Given the description of an element on the screen output the (x, y) to click on. 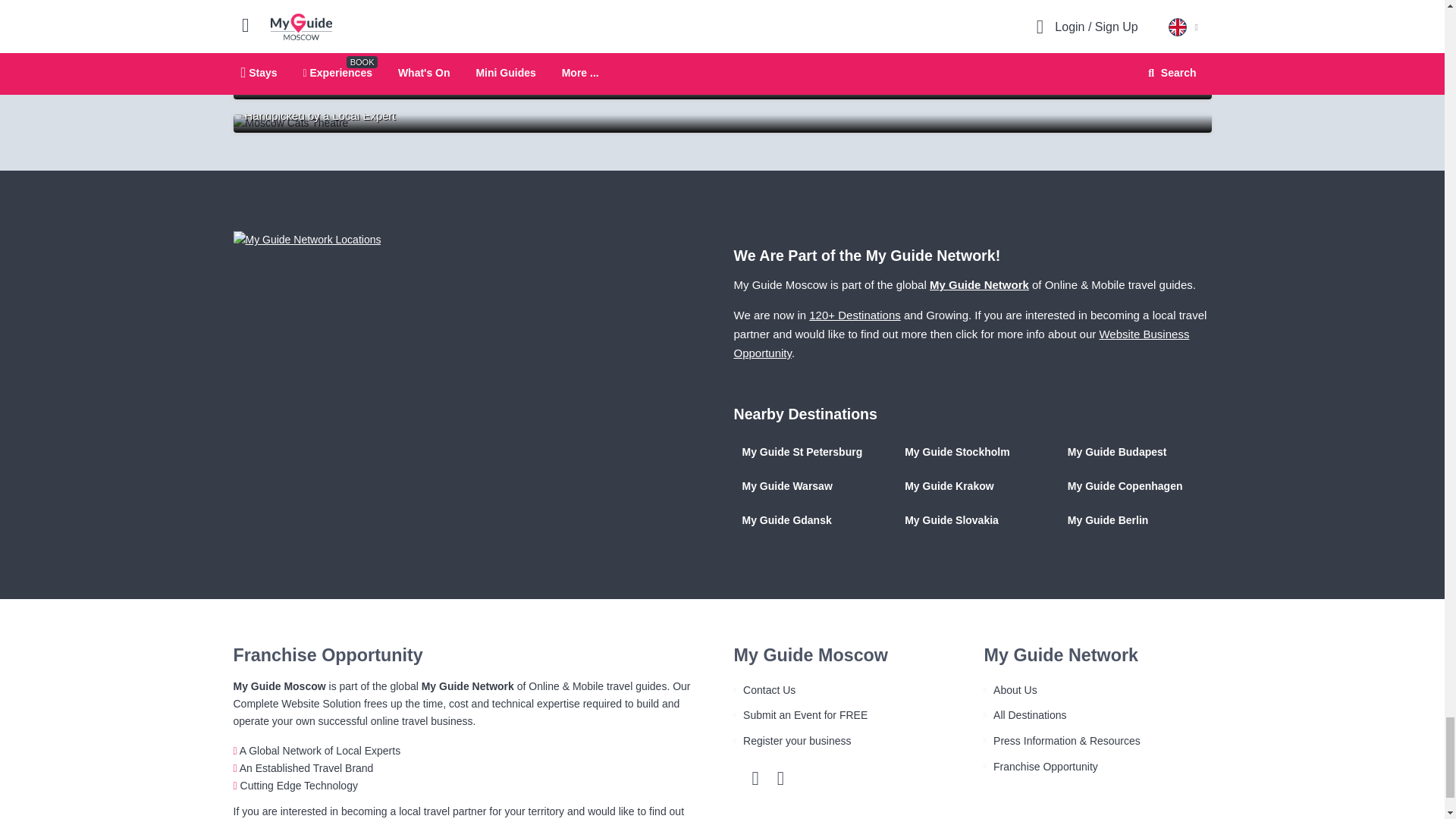
Places to watch the FIFA World Cup 2018 (721, 90)
Best For Kids (721, 123)
Must See Places For First Timers (721, 56)
